Given the description of an element on the screen output the (x, y) to click on. 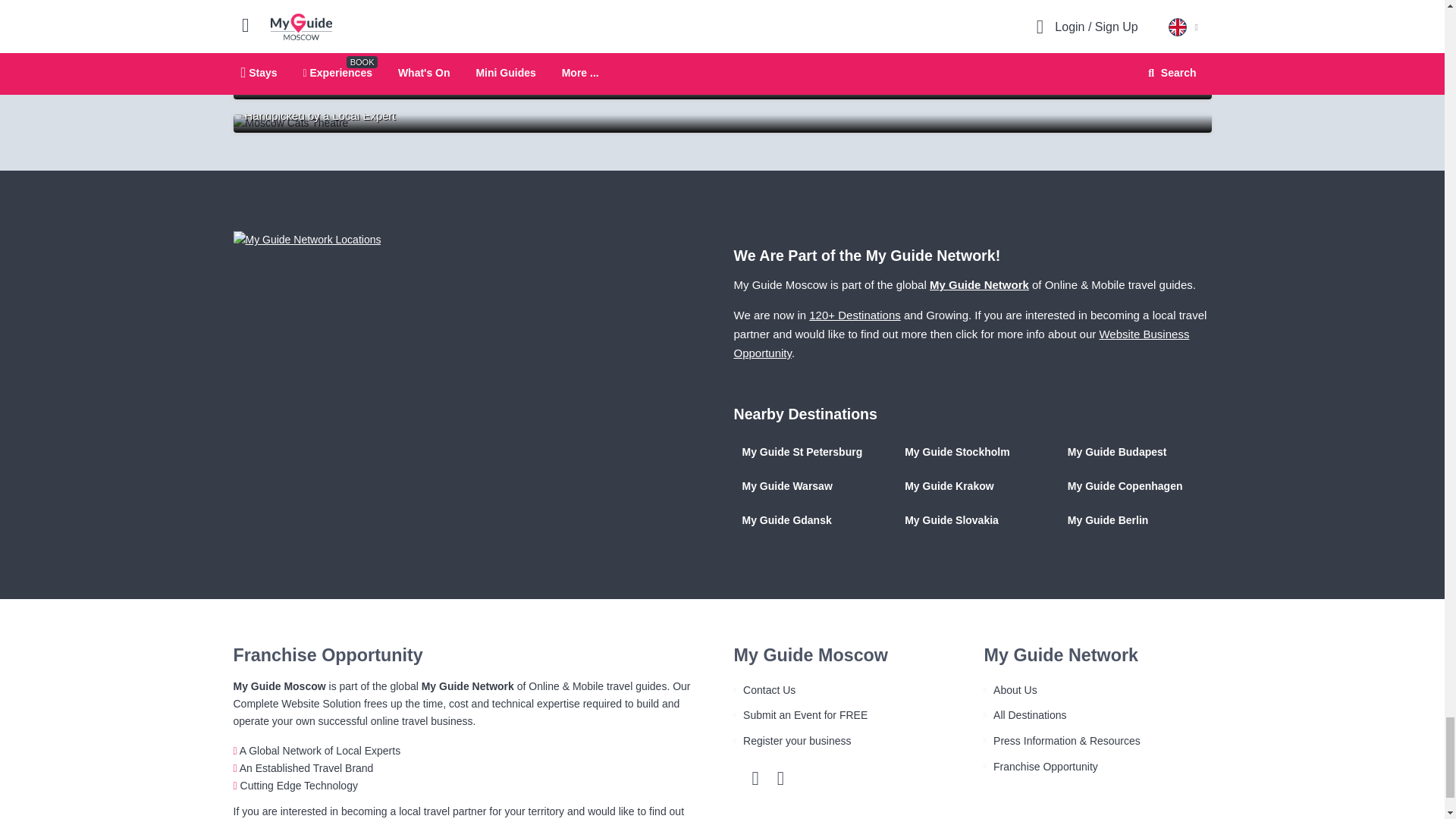
Places to watch the FIFA World Cup 2018 (721, 90)
Best For Kids (721, 123)
Must See Places For First Timers (721, 56)
